Given the description of an element on the screen output the (x, y) to click on. 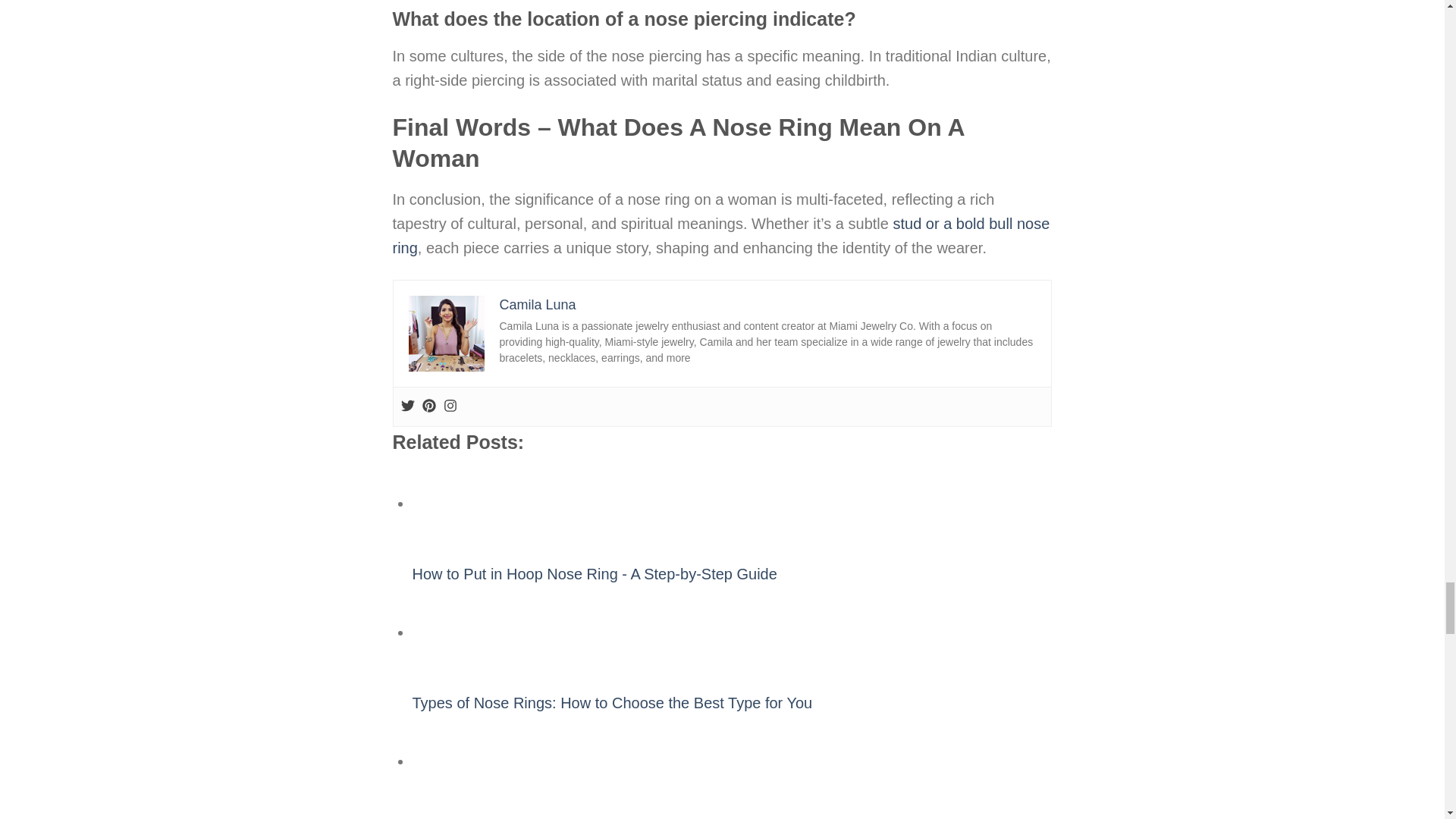
How to Put in Hoop Nose Ring - A Step-by-Step Guide (449, 504)
Types of Nose Rings: How to Choose the Best Type for You (449, 632)
